Given the description of an element on the screen output the (x, y) to click on. 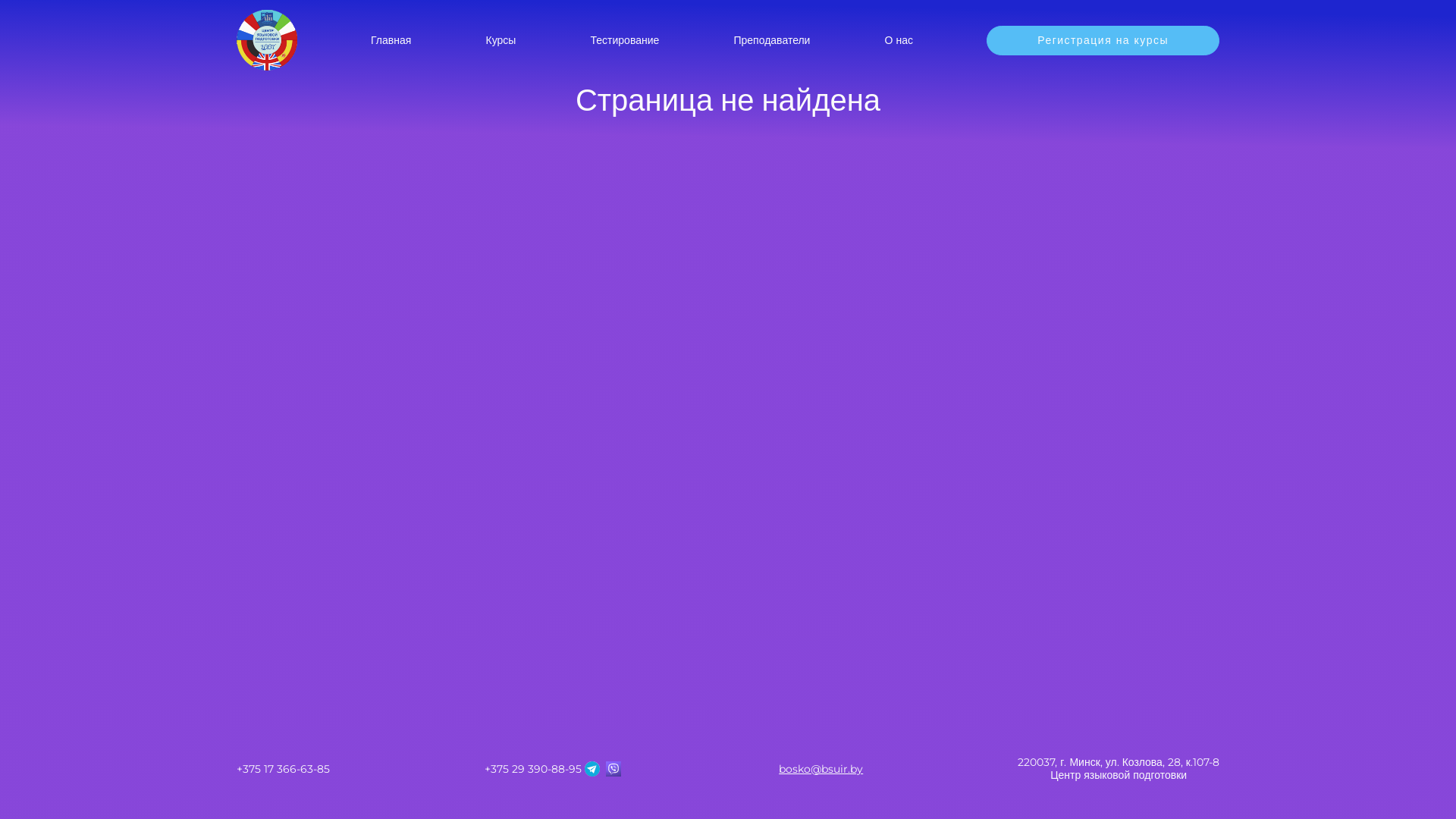
bosko@bsuir.by Element type: text (820, 768)
